Given the description of an element on the screen output the (x, y) to click on. 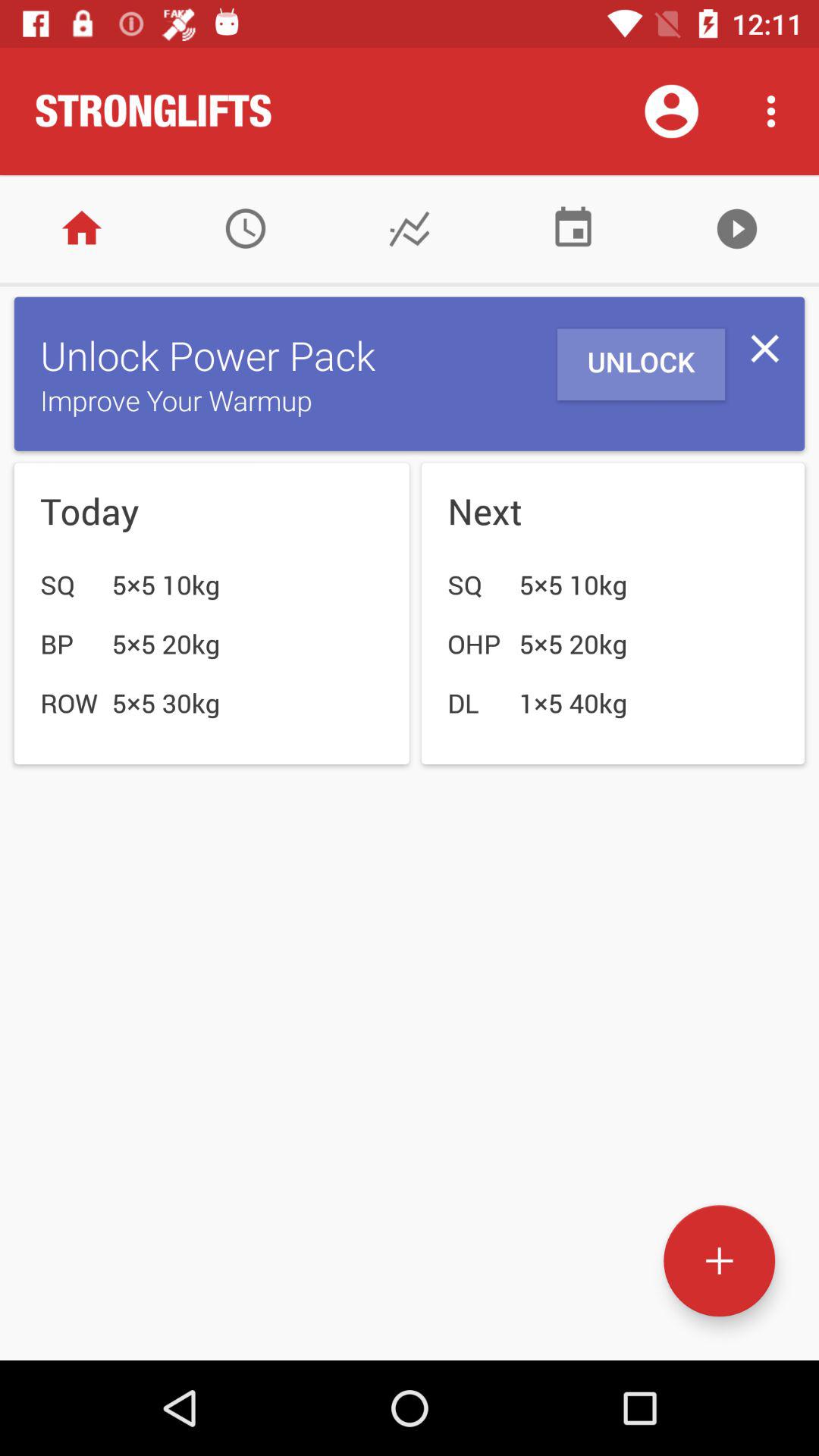
set exercise timer (245, 228)
